Given the description of an element on the screen output the (x, y) to click on. 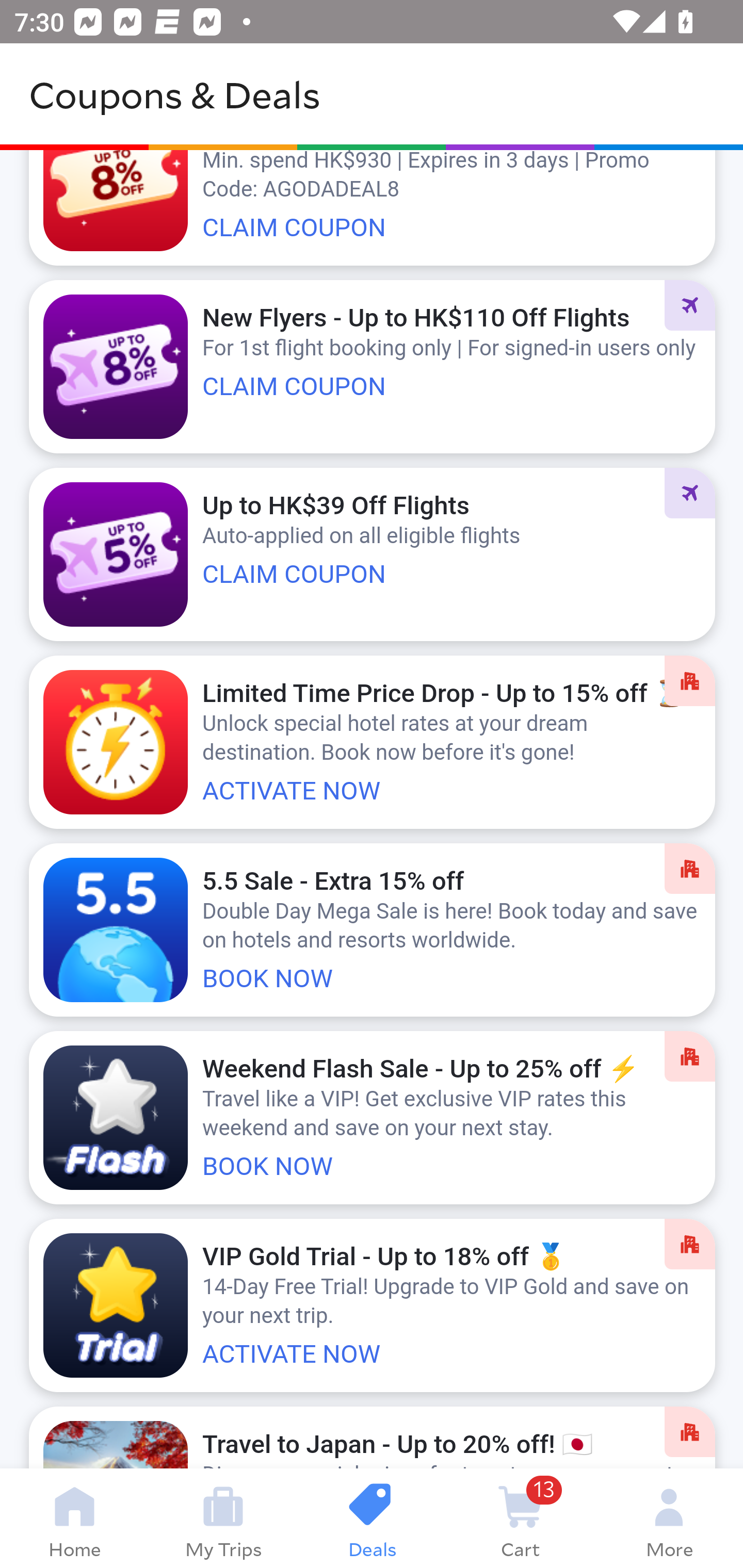
Home (74, 1518)
My Trips (222, 1518)
Deals (371, 1518)
13 Cart (519, 1518)
More (668, 1518)
